Given the description of an element on the screen output the (x, y) to click on. 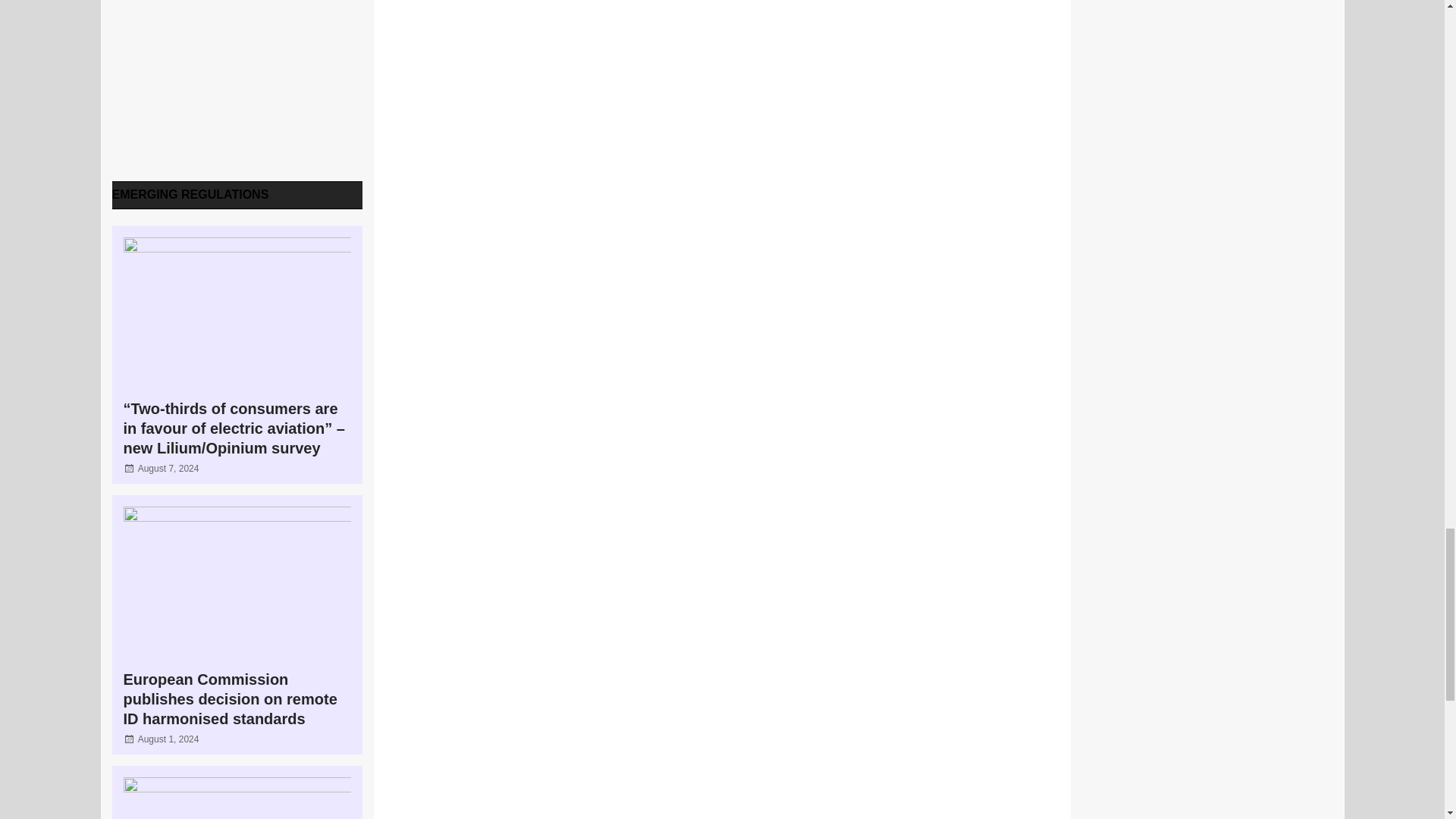
View all posts from category Emerging regulations (190, 194)
11:14 am (168, 468)
3:01 pm (168, 738)
